Given the description of an element on the screen output the (x, y) to click on. 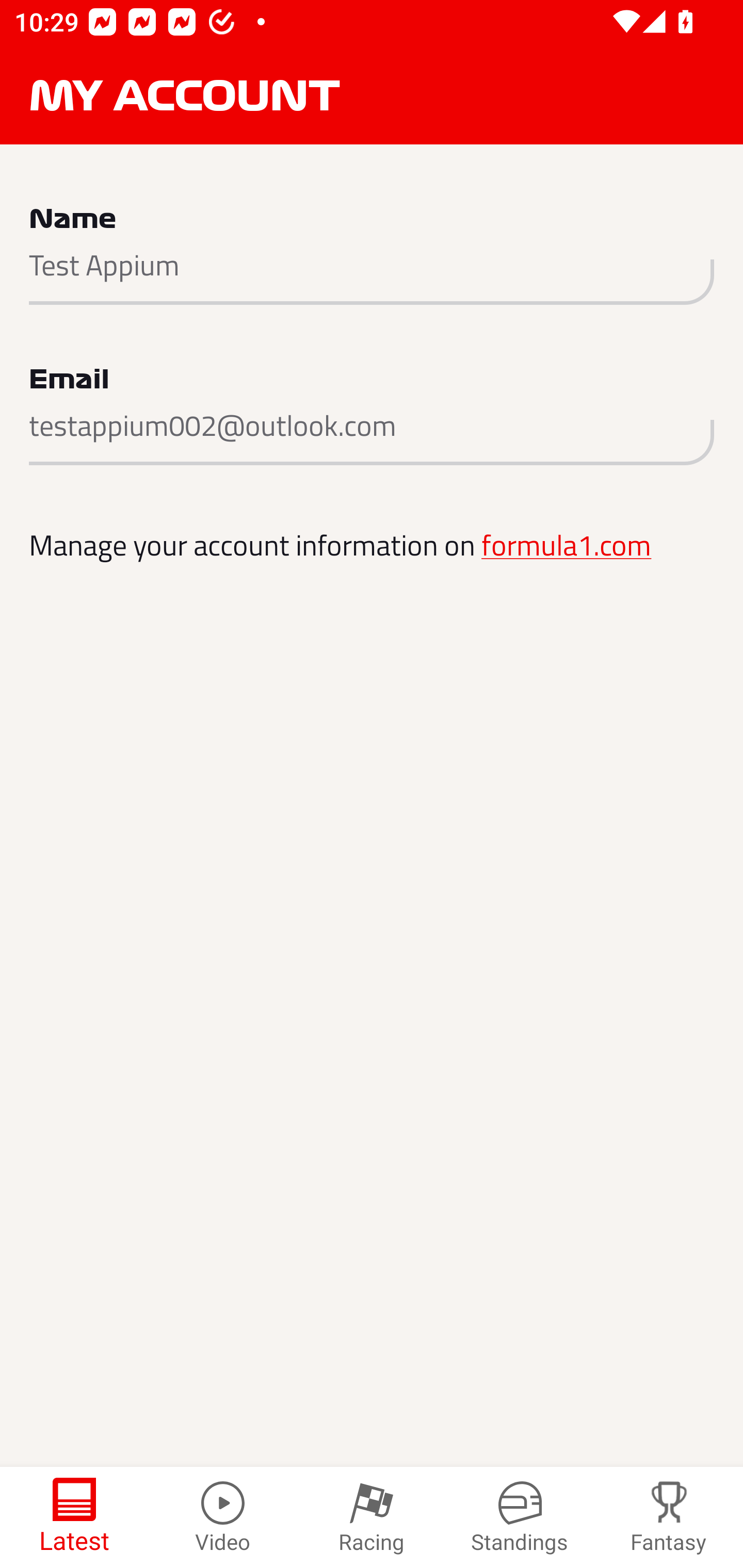
Video (222, 1517)
Racing (371, 1517)
Standings (519, 1517)
Fantasy (668, 1517)
